Given the description of an element on the screen output the (x, y) to click on. 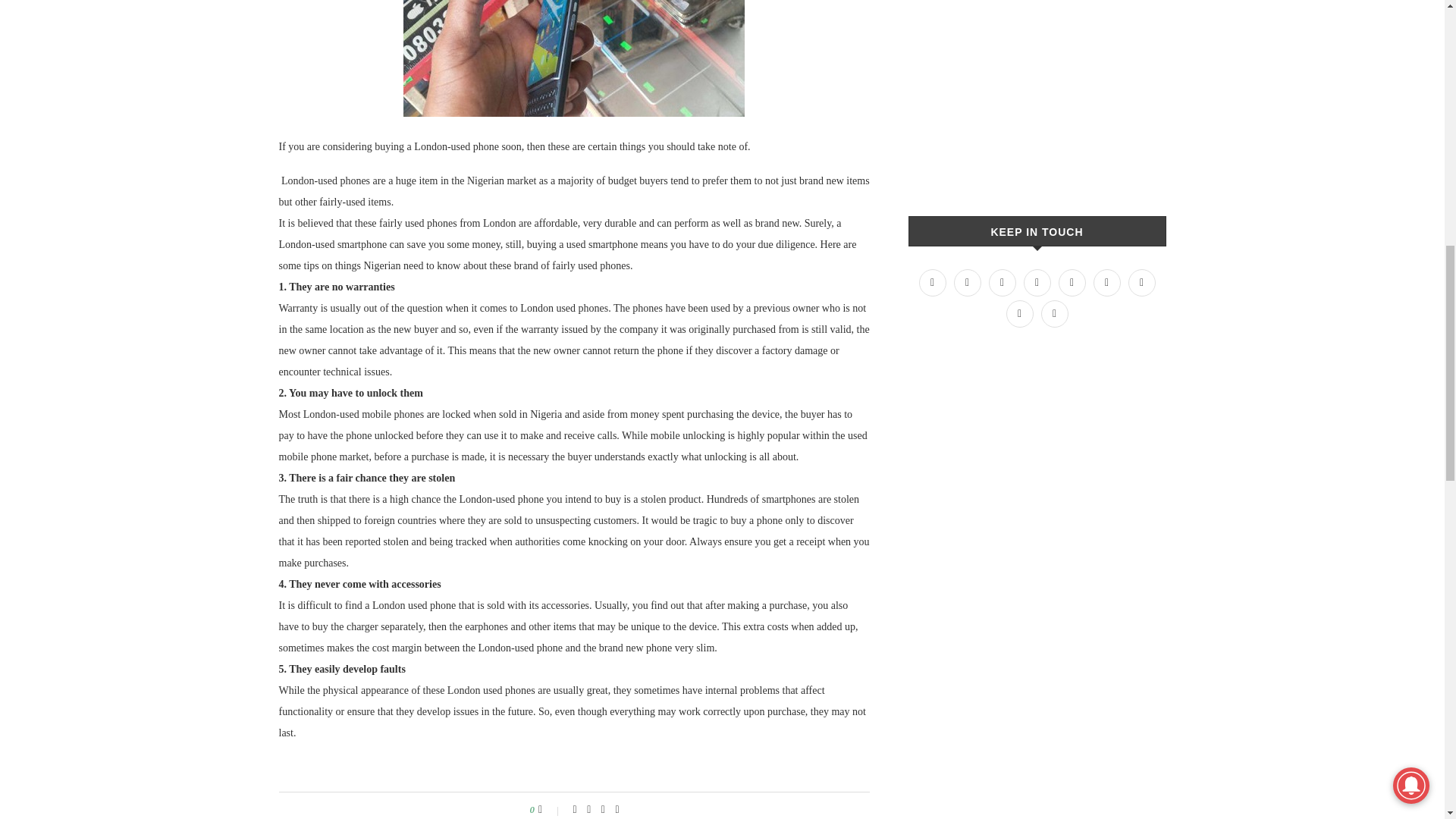
Like (550, 809)
